Given the description of an element on the screen output the (x, y) to click on. 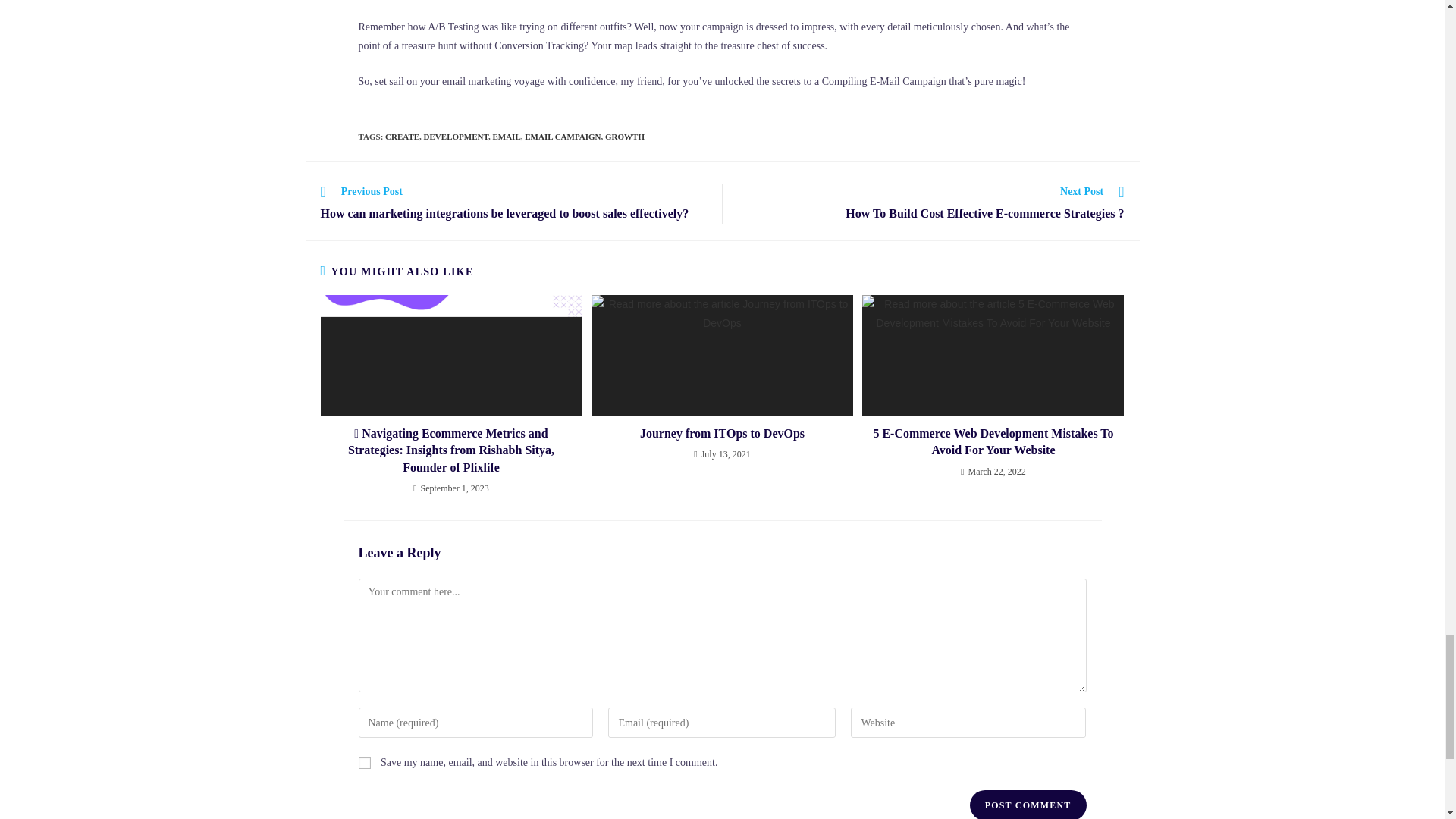
yes (363, 762)
Journey from ITOps to DevOps 3 (722, 355)
Post Comment (1027, 804)
